Given the description of an element on the screen output the (x, y) to click on. 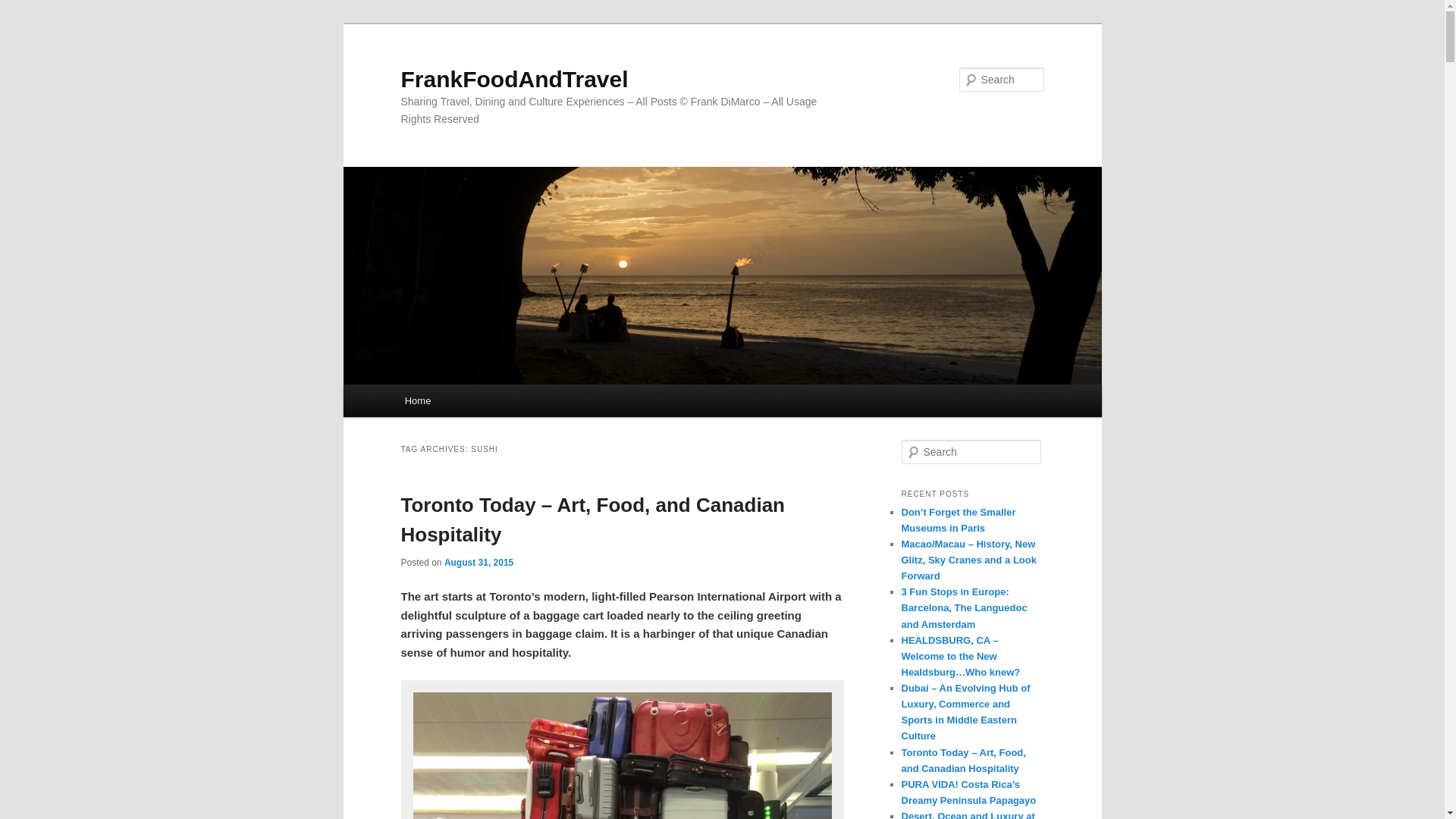
Home (417, 400)
4:51 PM (478, 562)
Search (24, 8)
August 31, 2015 (478, 562)
FrankFoodAndTravel (513, 78)
